Given the description of an element on the screen output the (x, y) to click on. 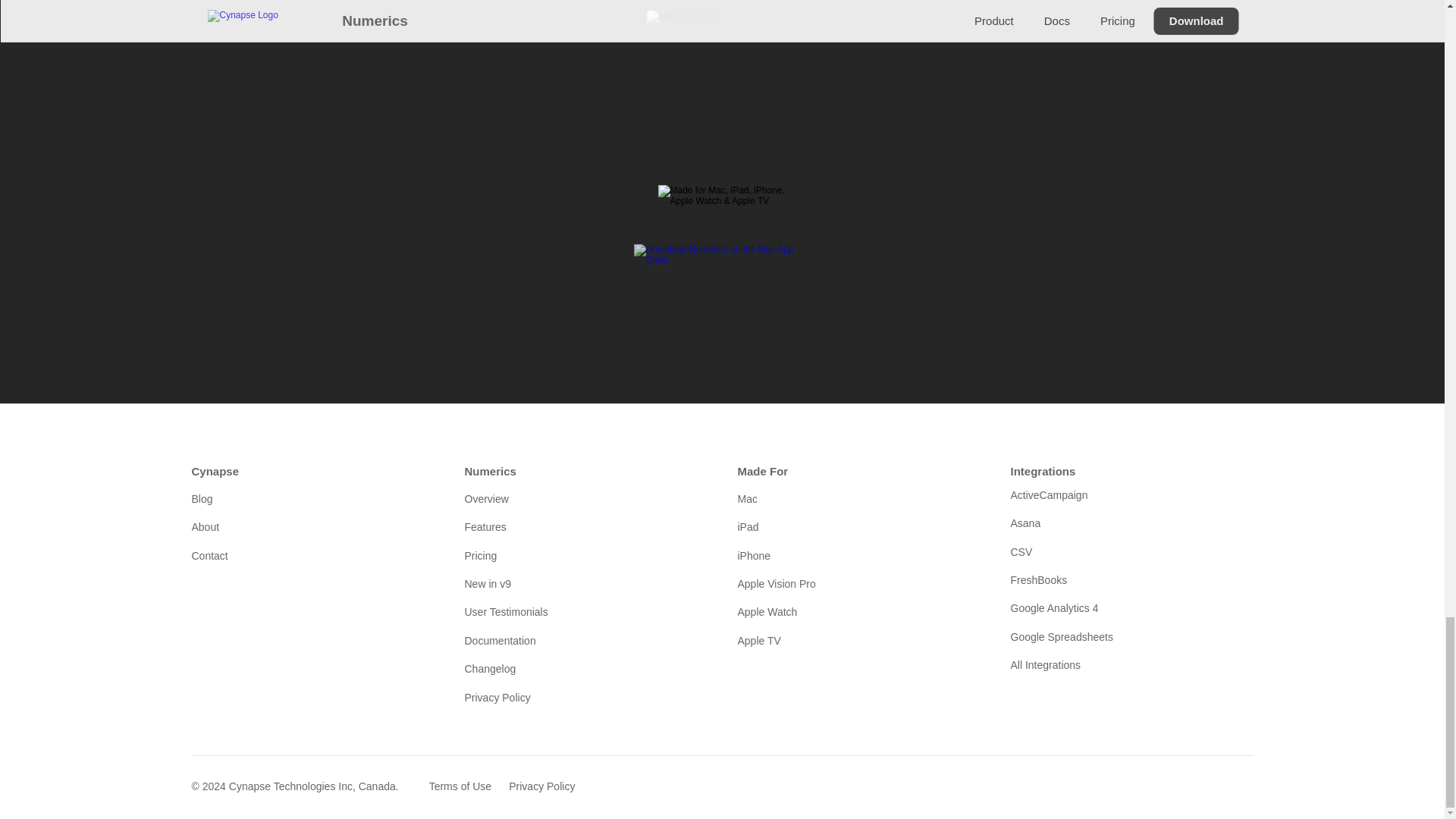
Blog (311, 498)
Apple TV (857, 640)
Overview (585, 498)
User Testimonials (585, 611)
New in v9 (585, 583)
iPad (857, 526)
Changelog (585, 668)
Documentation (585, 640)
Contact (311, 555)
Apple Vision Pro (857, 583)
Features (585, 526)
iPhone (857, 555)
About (311, 526)
Apple Watch (857, 611)
ActiveCampaign (1131, 494)
